Given the description of an element on the screen output the (x, y) to click on. 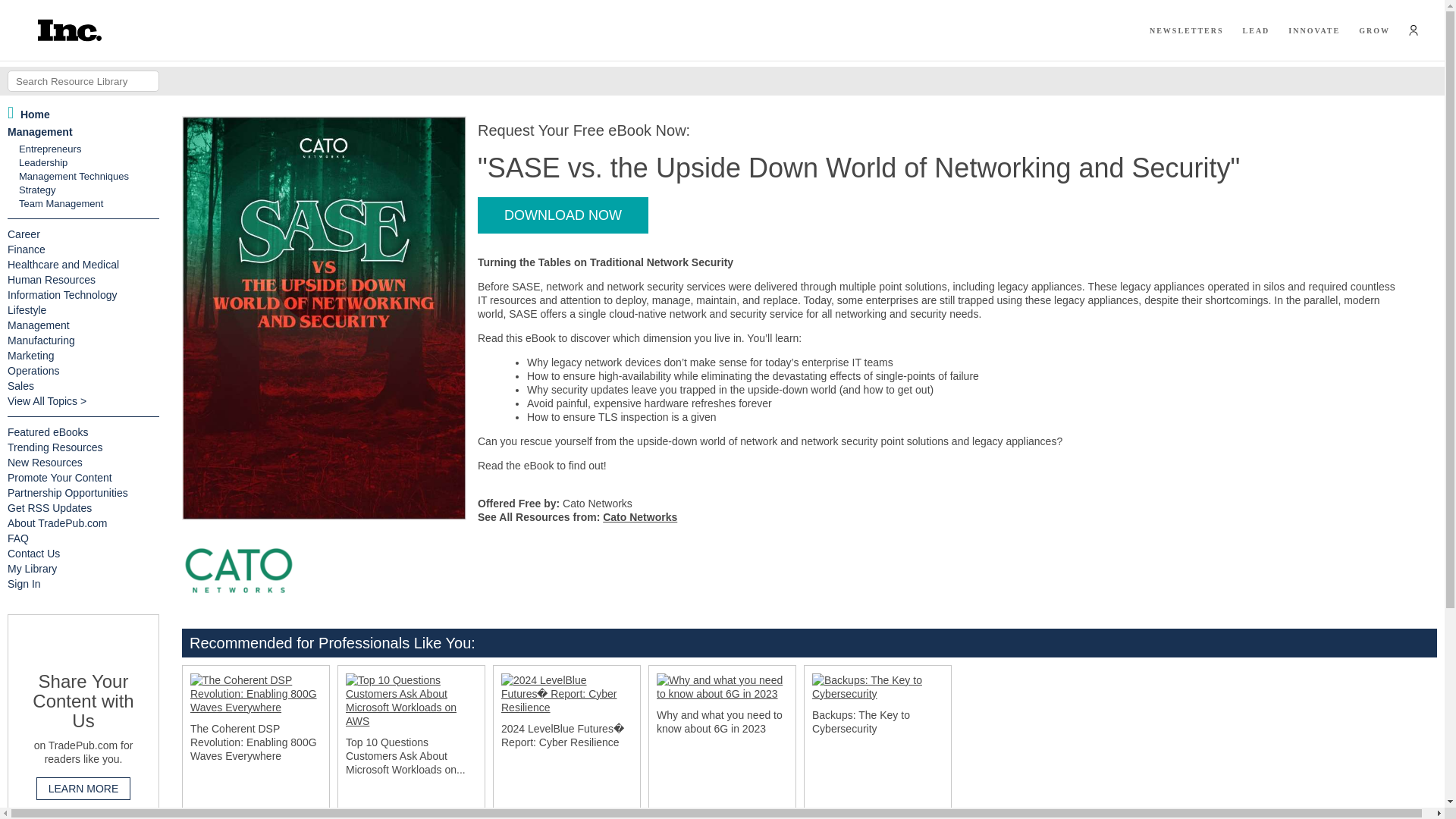
Continue to Grow on Inc.com (1374, 30)
Continue to Innovate on Inc.com (1313, 30)
Continue to Lead on Inc.com (1256, 30)
Continue to Newsletters on Inc.com (1187, 30)
